Given the description of an element on the screen output the (x, y) to click on. 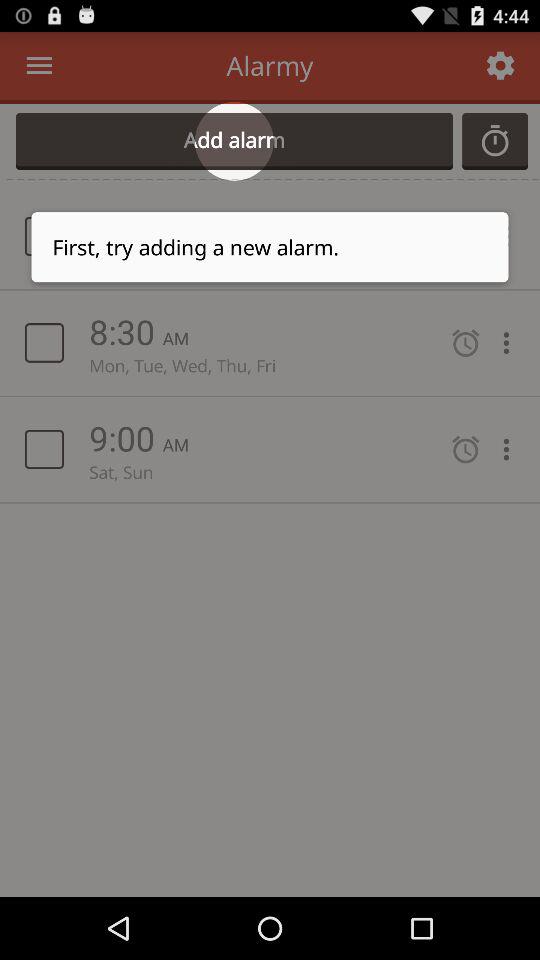
tap item at the center (270, 540)
